Given the description of an element on the screen output the (x, y) to click on. 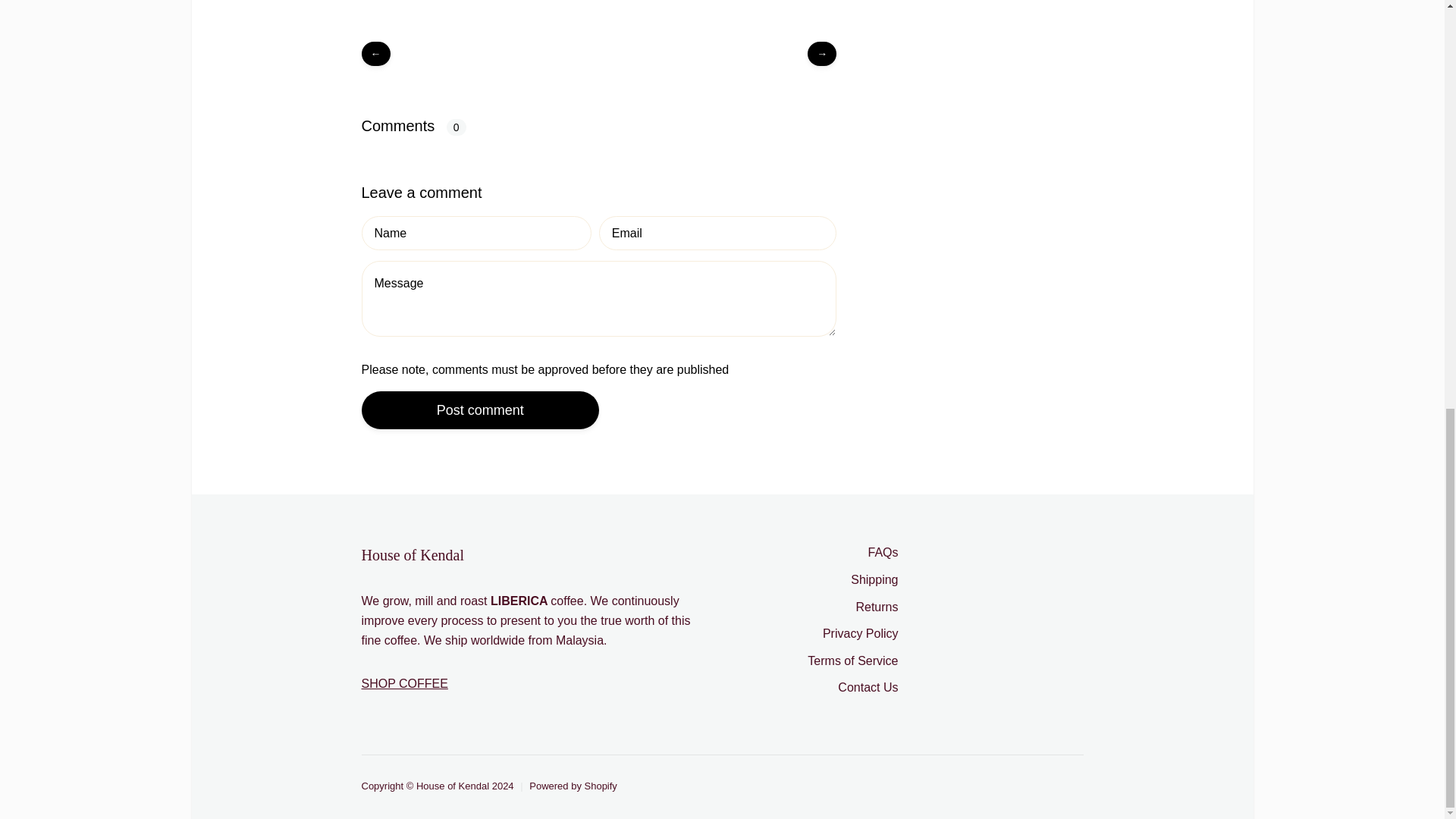
Our Coffee Collection (403, 683)
Post comment (479, 410)
